Given the description of an element on the screen output the (x, y) to click on. 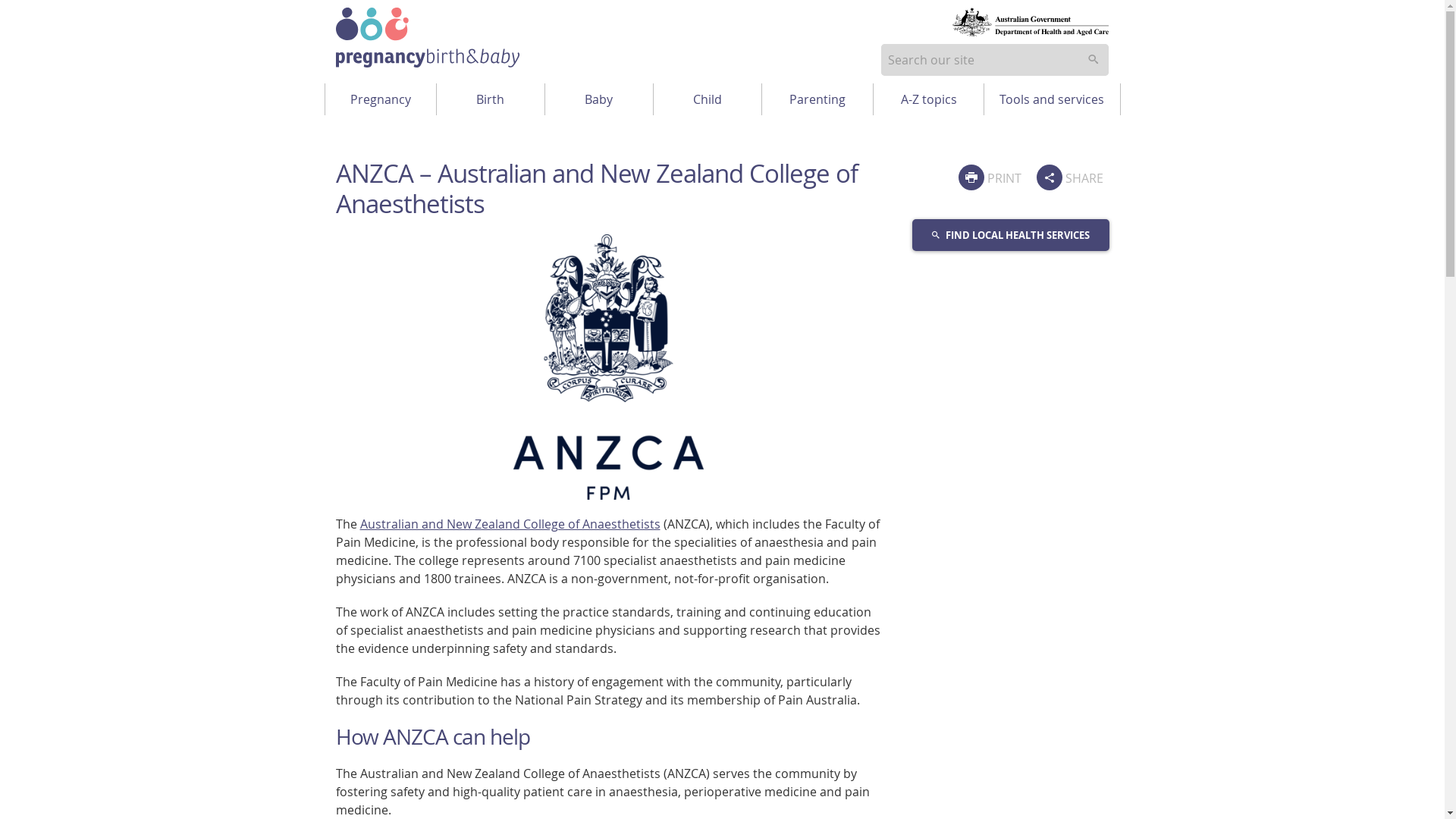
Birth (490, 99)
Pregnancy (379, 99)
Child (707, 99)
Suggestion options (994, 60)
Parenting (816, 99)
Baby (598, 99)
